Given the description of an element on the screen output the (x, y) to click on. 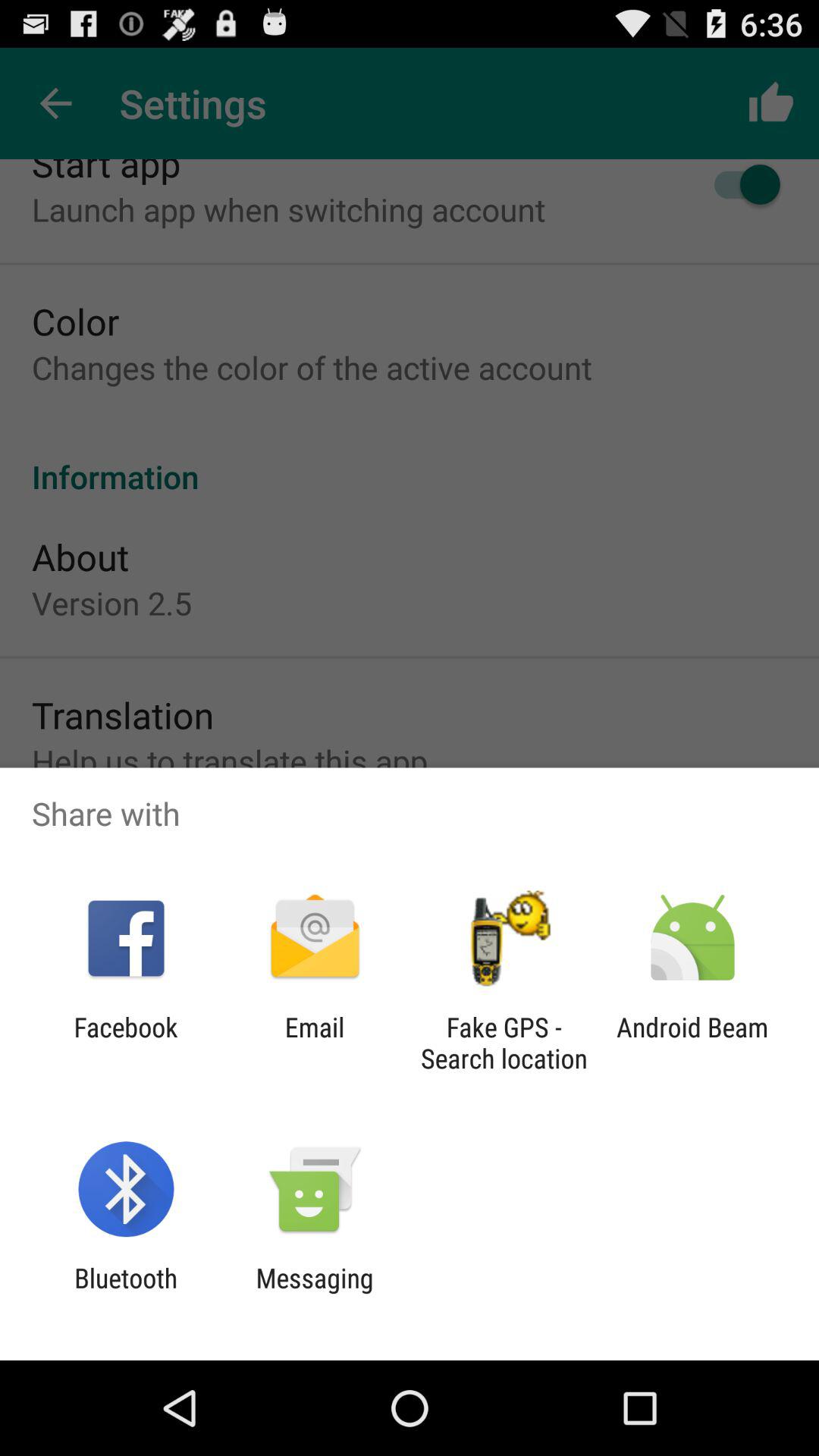
tap app to the left of email app (125, 1042)
